Given the description of an element on the screen output the (x, y) to click on. 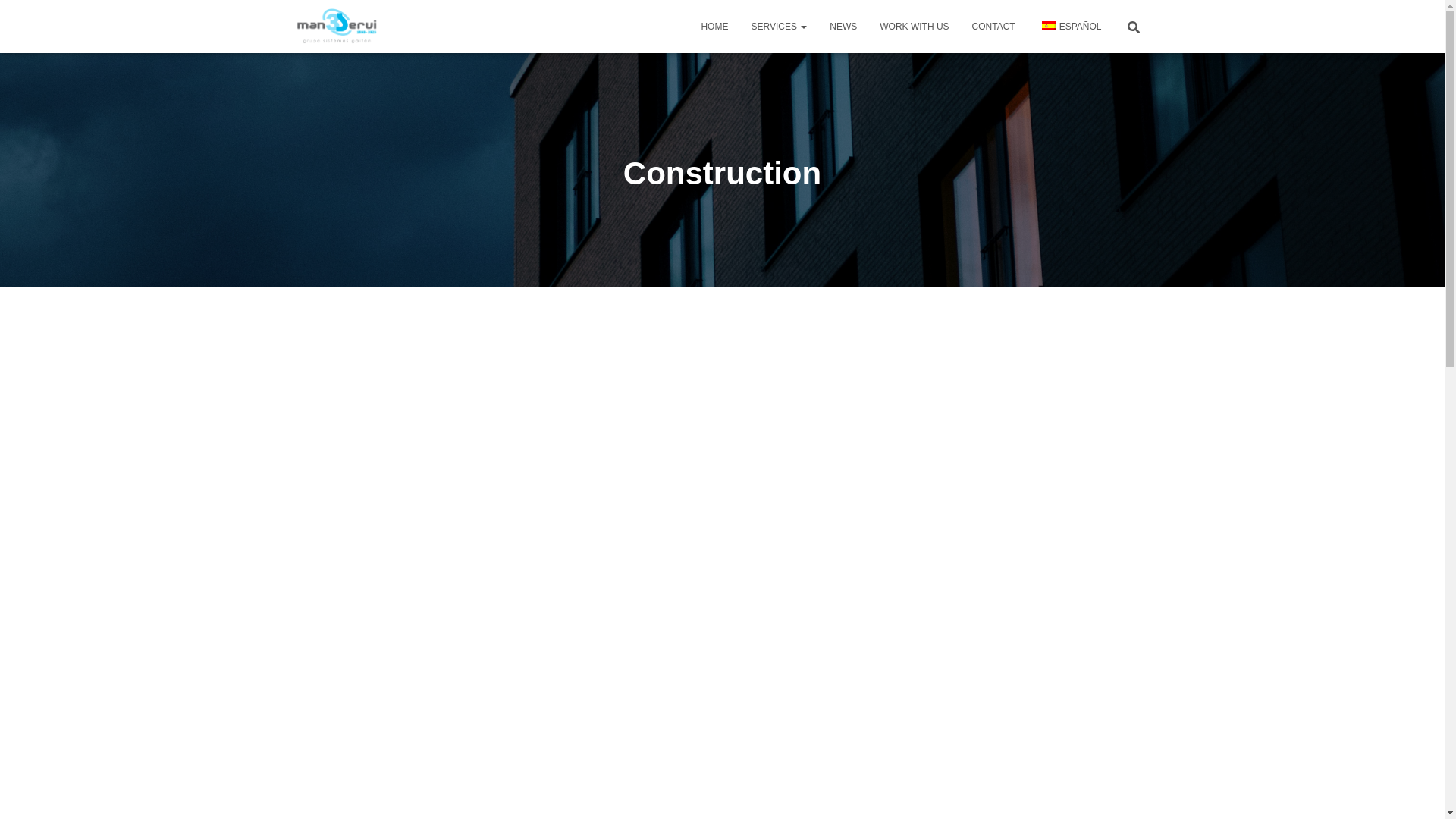
Home (713, 26)
Search (16, 16)
CONTACT (993, 26)
SERVICES (778, 26)
News (842, 26)
Manservi (338, 26)
Contact (993, 26)
Work with us (913, 26)
NEWS (842, 26)
WORK WITH US (913, 26)
